Given the description of an element on the screen output the (x, y) to click on. 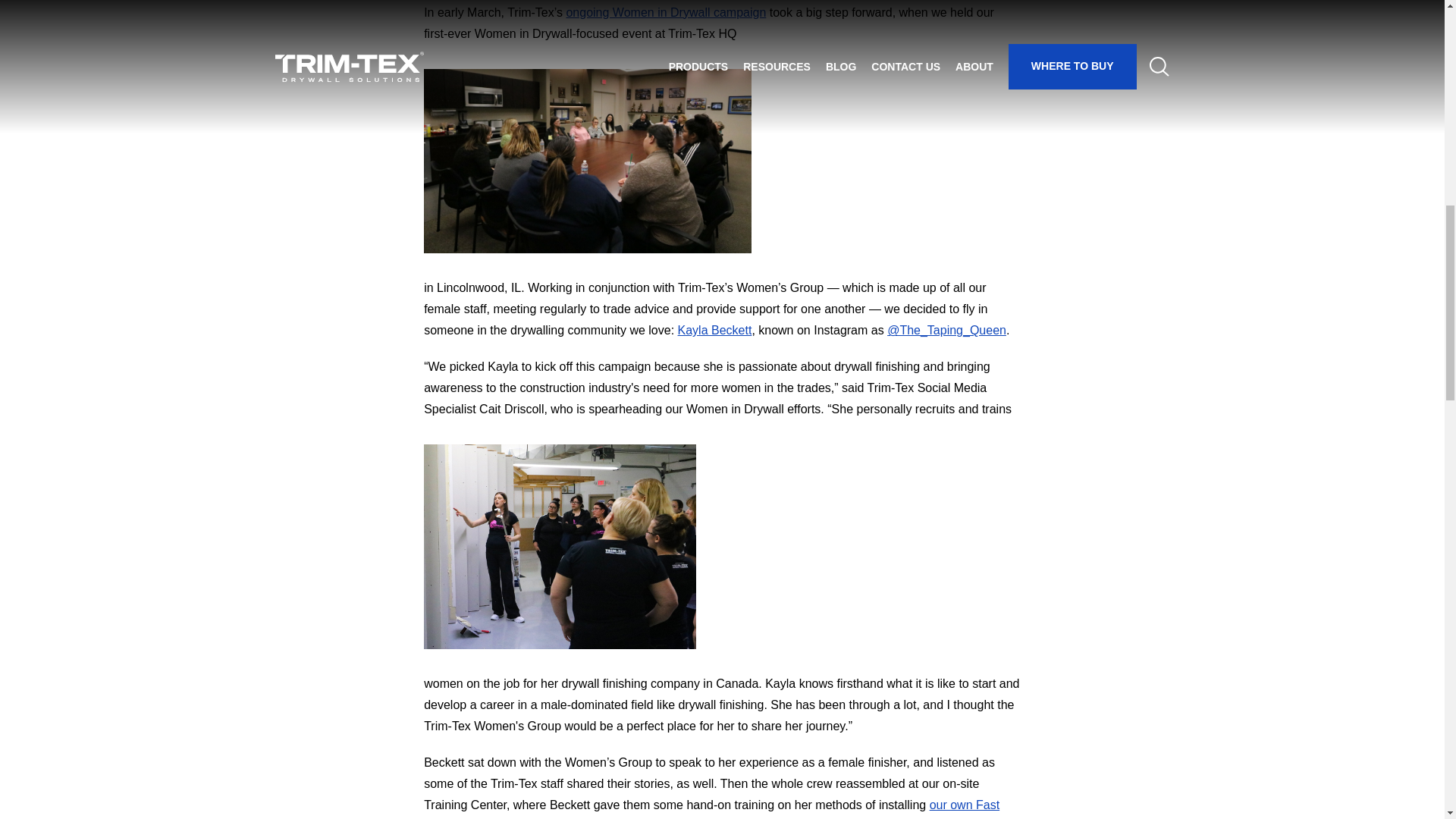
Kayla Beckett (715, 329)
ongoing Women in Drywall campaign (665, 11)
